Given the description of an element on the screen output the (x, y) to click on. 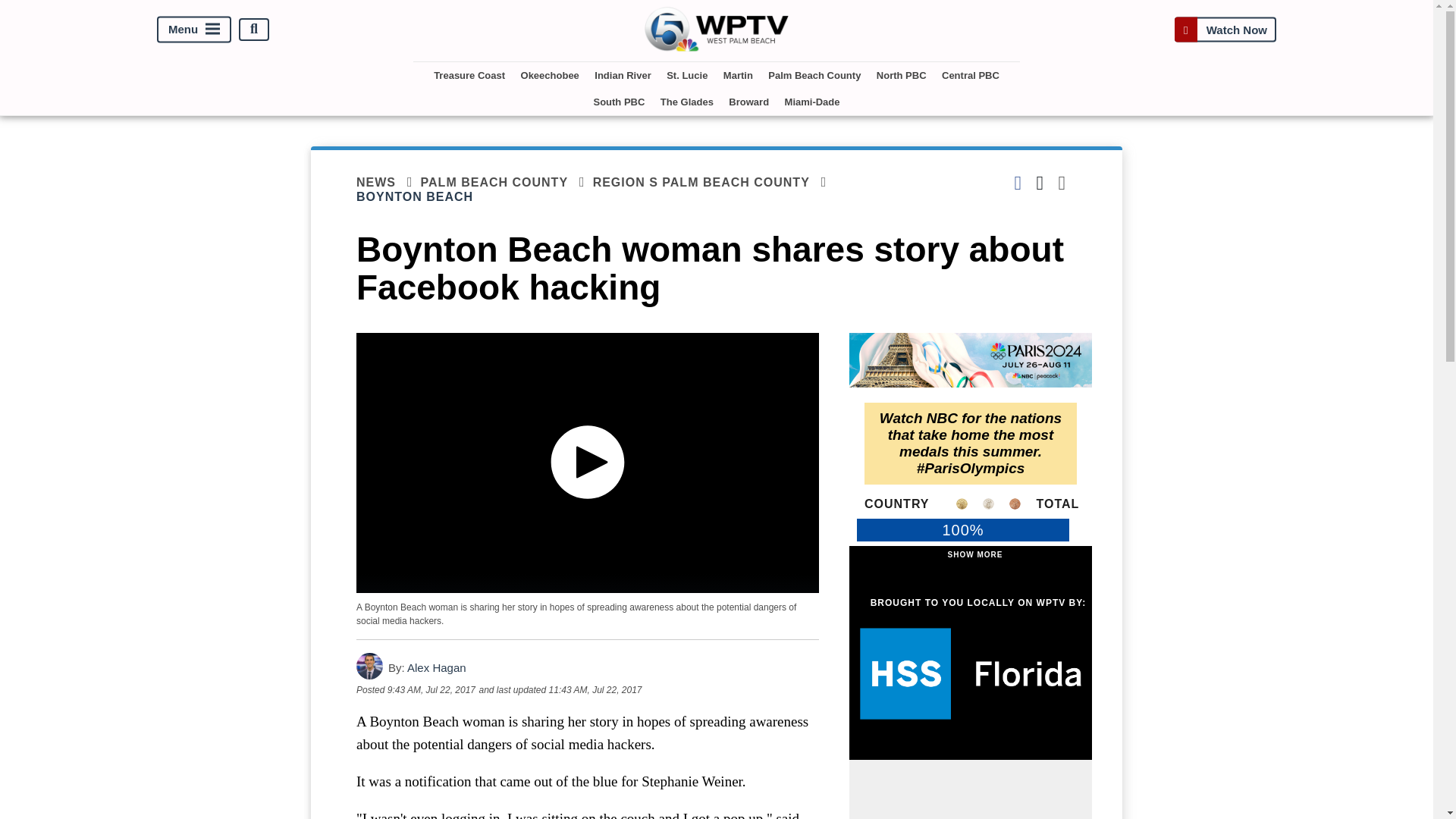
Menu (194, 28)
Watch Now (1224, 29)
